Given the description of an element on the screen output the (x, y) to click on. 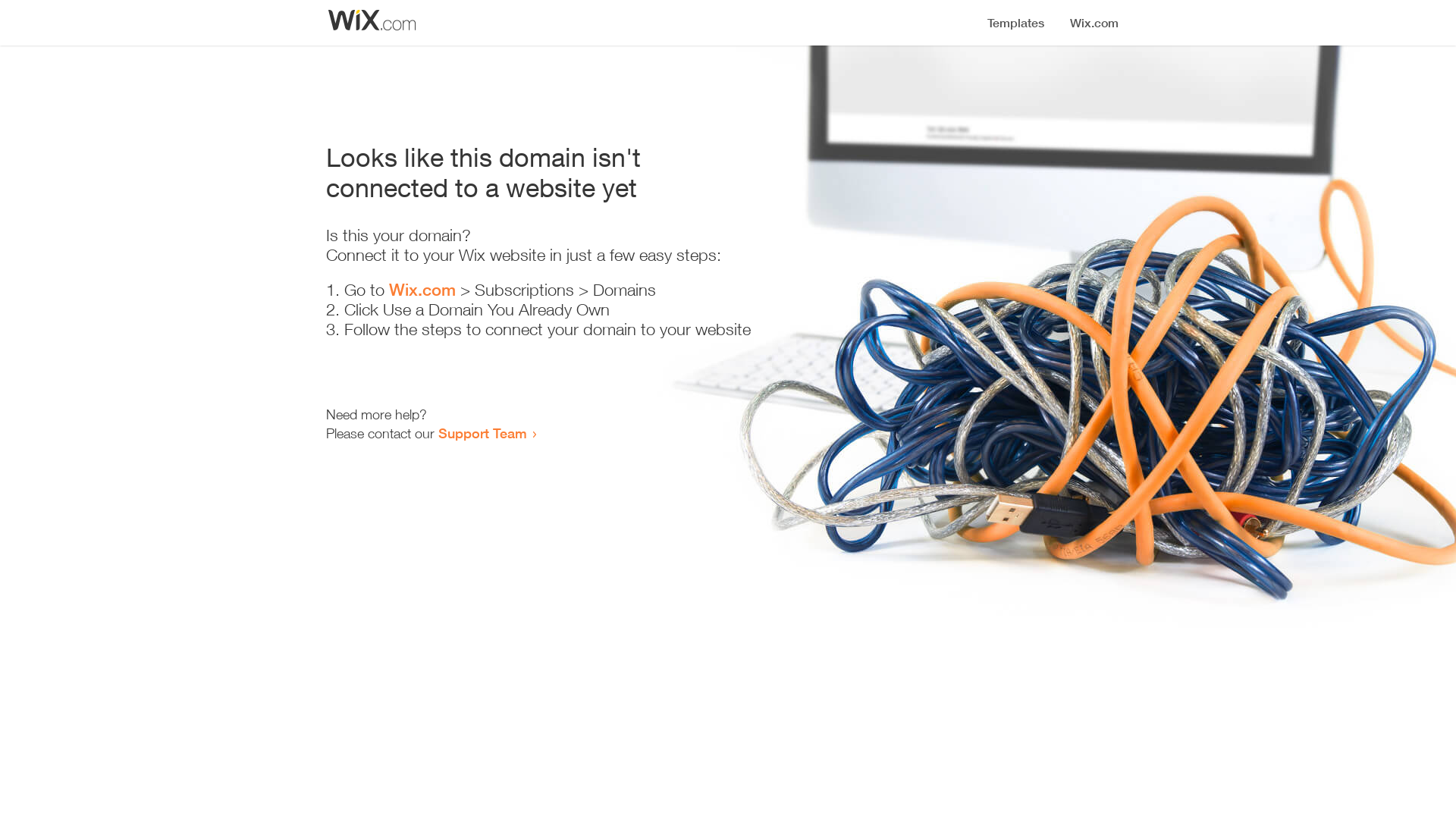
Wix.com Element type: text (422, 289)
Support Team Element type: text (482, 432)
